Given the description of an element on the screen output the (x, y) to click on. 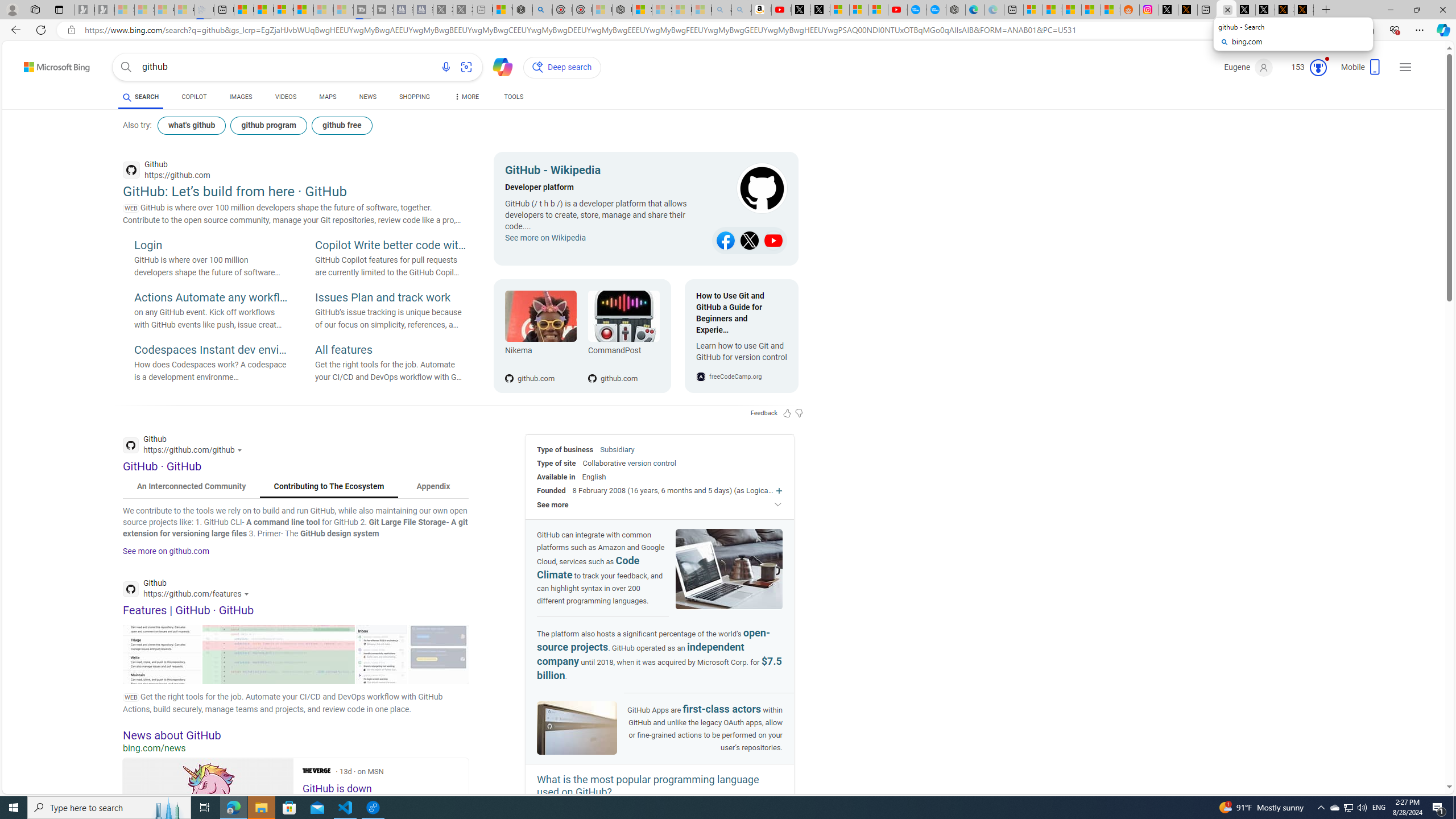
GitHub (@github) / X (1264, 9)
X - Sleeping (462, 9)
Subsidiary (616, 449)
COPILOT (193, 98)
what's github (191, 125)
Nikema (540, 315)
Class: b_sitlk (773, 240)
Type of site (556, 462)
